Given the description of an element on the screen output the (x, y) to click on. 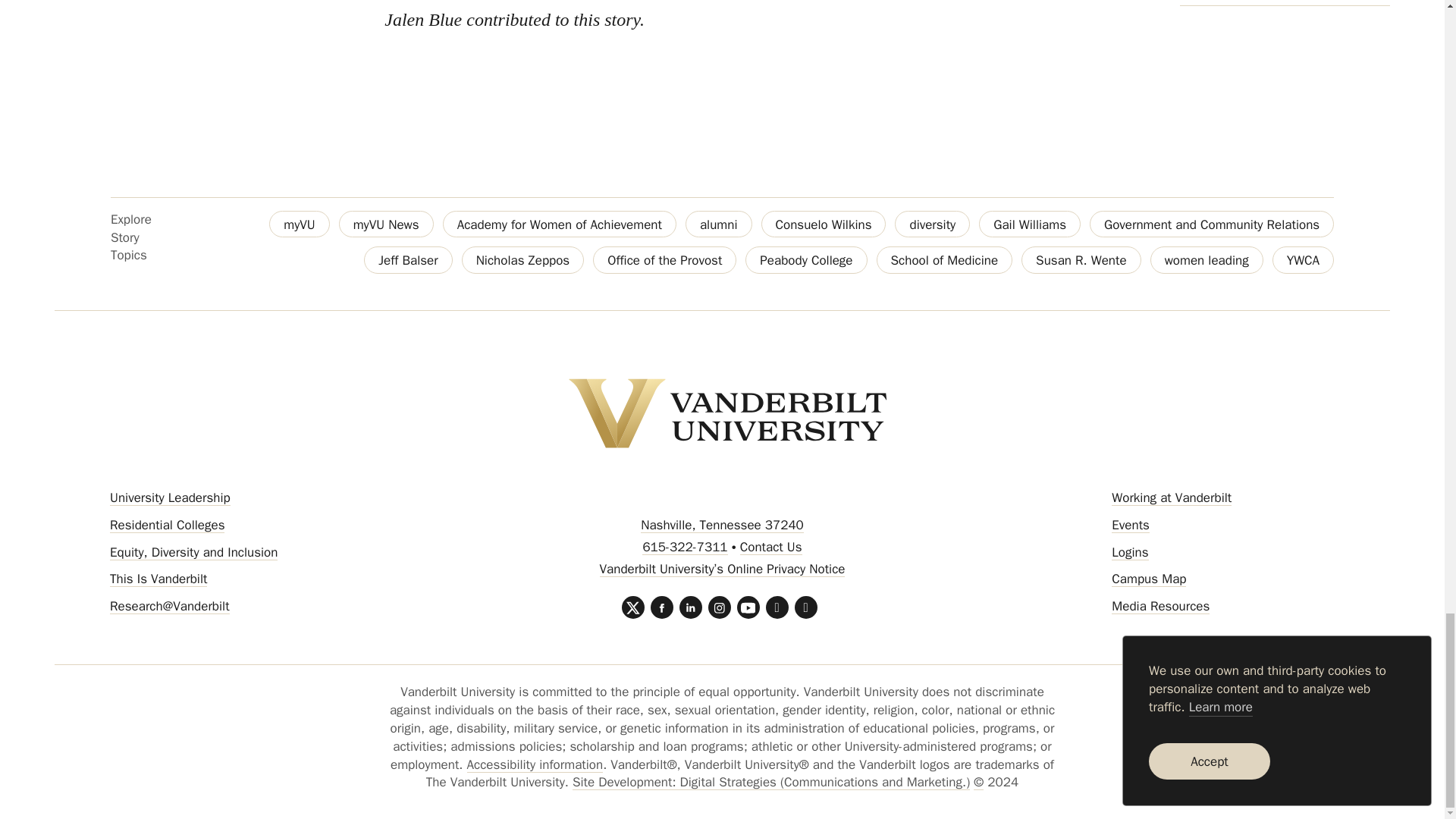
Academy for Women of Achievement (559, 223)
Consuelo Wilkins (823, 223)
myVU (299, 223)
alumni (718, 223)
diversity (932, 223)
myVU News (386, 223)
